Given the description of an element on the screen output the (x, y) to click on. 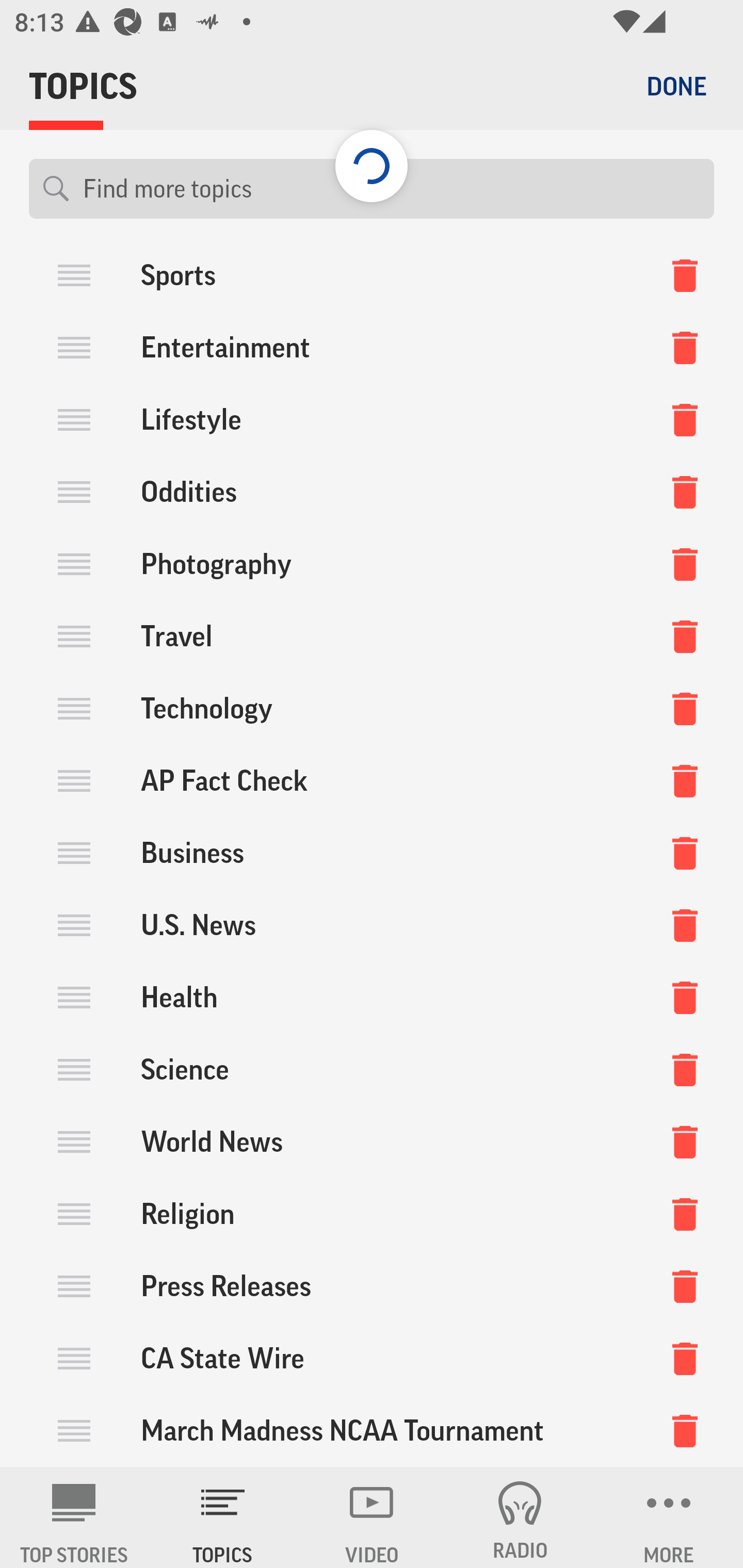
DONE (676, 86)
Find more topics (391, 188)
Sports (371, 279)
Entertainment (371, 348)
Lifestyle (371, 420)
Oddities (371, 492)
Photography (371, 564)
Travel (371, 636)
Technology (371, 708)
AP Fact Check (371, 780)
Business (371, 852)
U.S. News (371, 925)
Health (371, 997)
Science (371, 1069)
World News (371, 1141)
Religion (371, 1213)
Press Releases (371, 1285)
CA State Wire (371, 1357)
March Madness NCAA Tournament (371, 1430)
AP News TOP STORIES (74, 1517)
TOPICS (222, 1517)
VIDEO (371, 1517)
RADIO (519, 1517)
MORE (668, 1517)
